Given the description of an element on the screen output the (x, y) to click on. 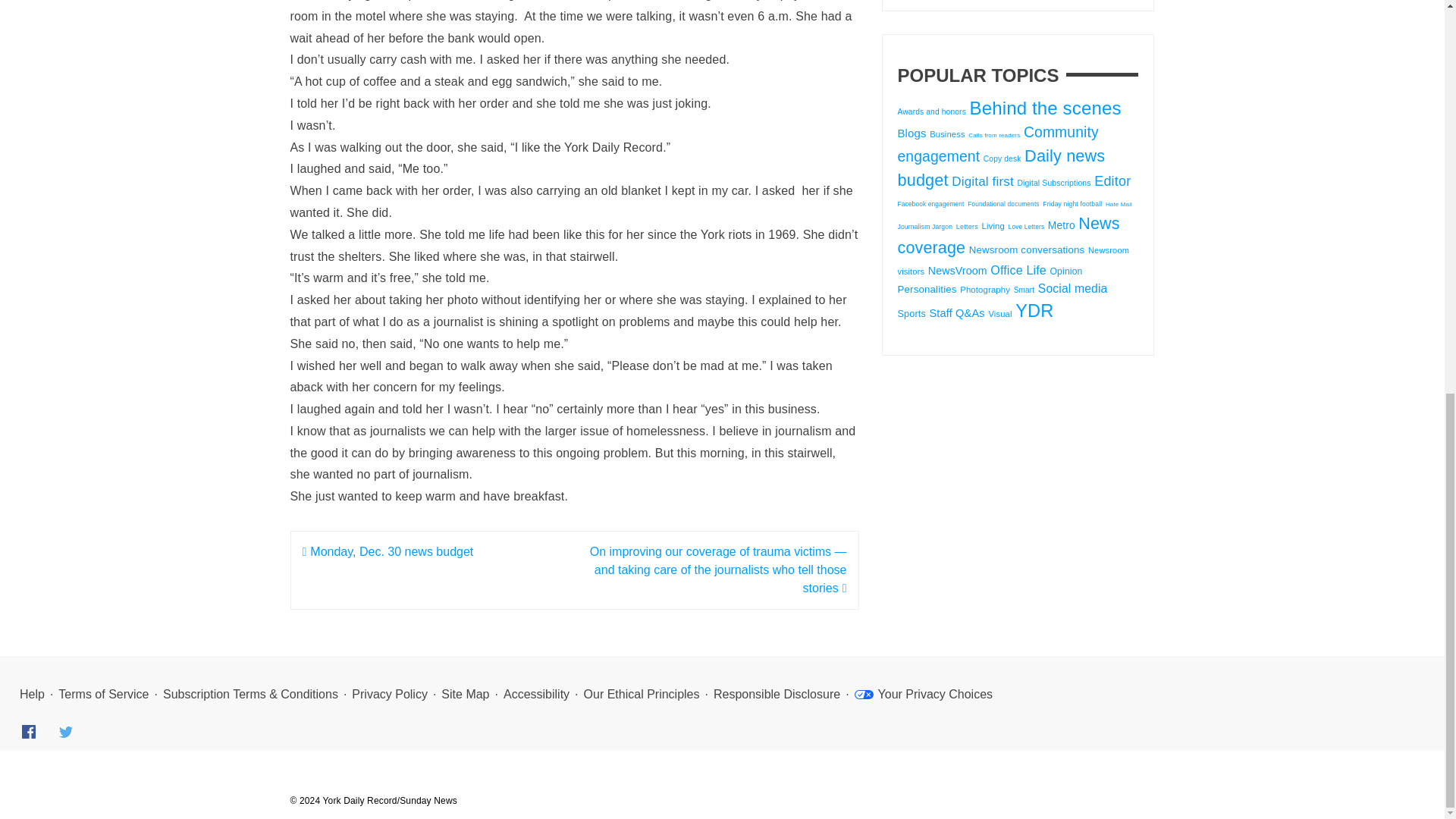
Blogs (912, 132)
Facebook engagement (930, 203)
Business (946, 133)
Digital Subscriptions (1053, 183)
Calls from readers (994, 134)
Metro (1061, 225)
Copy desk (1003, 158)
Love Letters (1027, 226)
Friday night football (1072, 203)
Newsroom conversations (1026, 249)
Letters (967, 226)
Awards and honors (932, 111)
Community engagement (998, 144)
News coverage (1008, 235)
Digital first (982, 181)
